Given the description of an element on the screen output the (x, y) to click on. 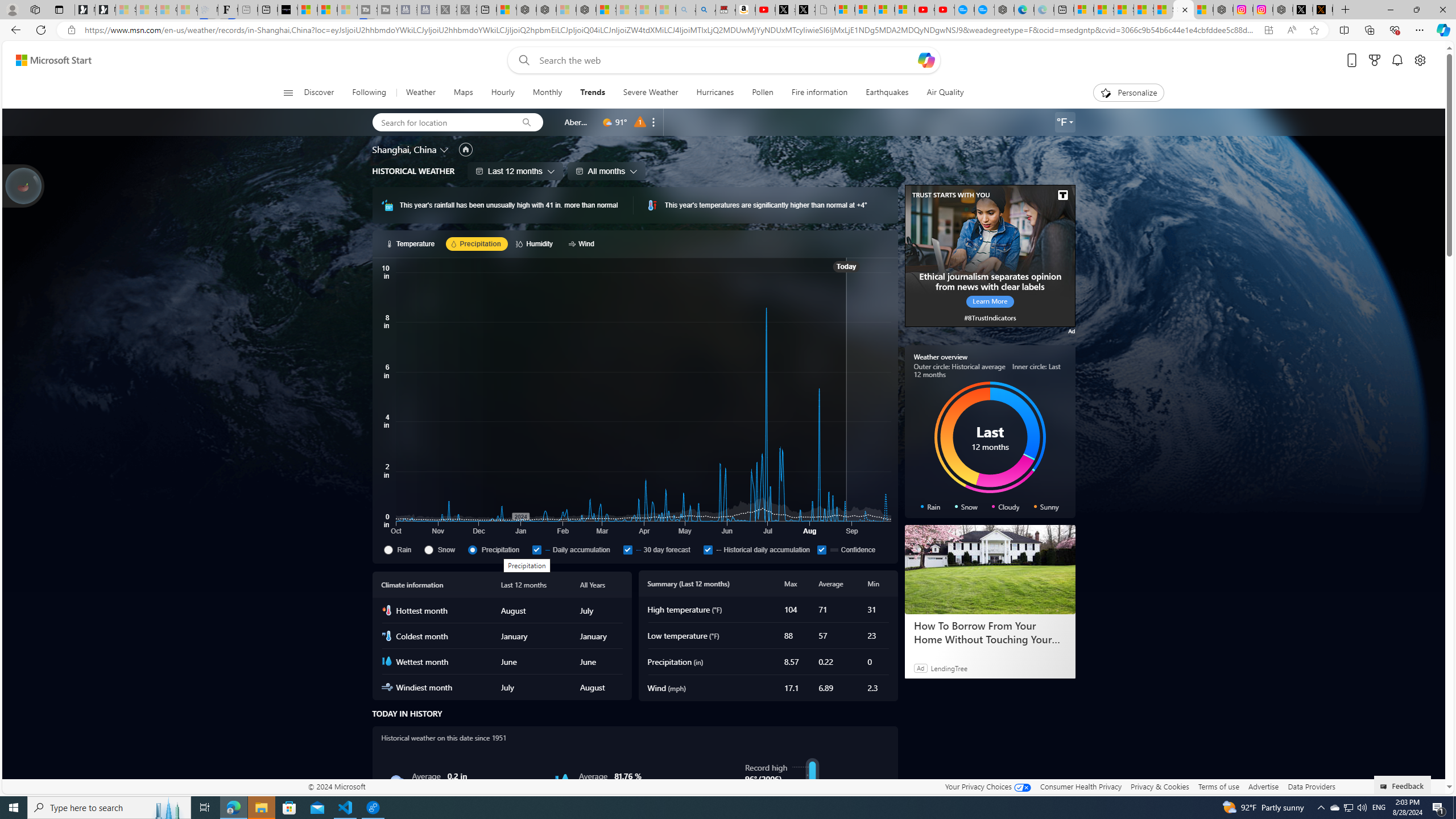
Hourly (502, 92)
Precipitation (497, 549)
Terms of use (1218, 785)
Change location (445, 149)
LendingTree (948, 668)
Air Quality (944, 92)
Air Quality (940, 92)
Severe Weather (650, 92)
Rain (396, 781)
Open settings (1420, 60)
Severe Weather (649, 92)
